Given the description of an element on the screen output the (x, y) to click on. 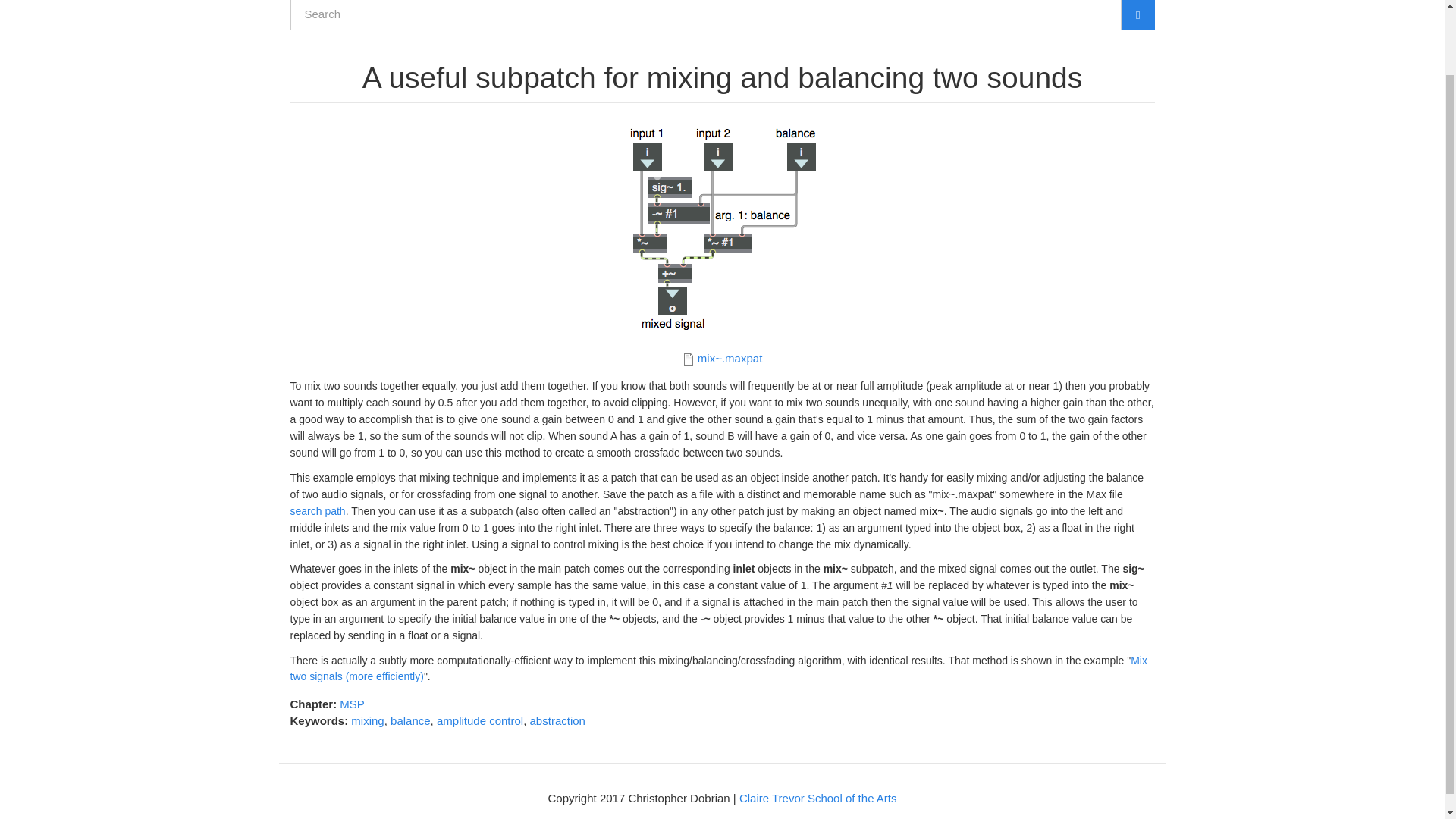
Enter the terms you wish to search for. (705, 15)
Claire Trevor School of the Arts (817, 797)
mixing (367, 720)
abstraction (557, 720)
balance (410, 720)
MSP (352, 703)
amplitude control (479, 720)
Search (303, 38)
search path (317, 510)
